Given the description of an element on the screen output the (x, y) to click on. 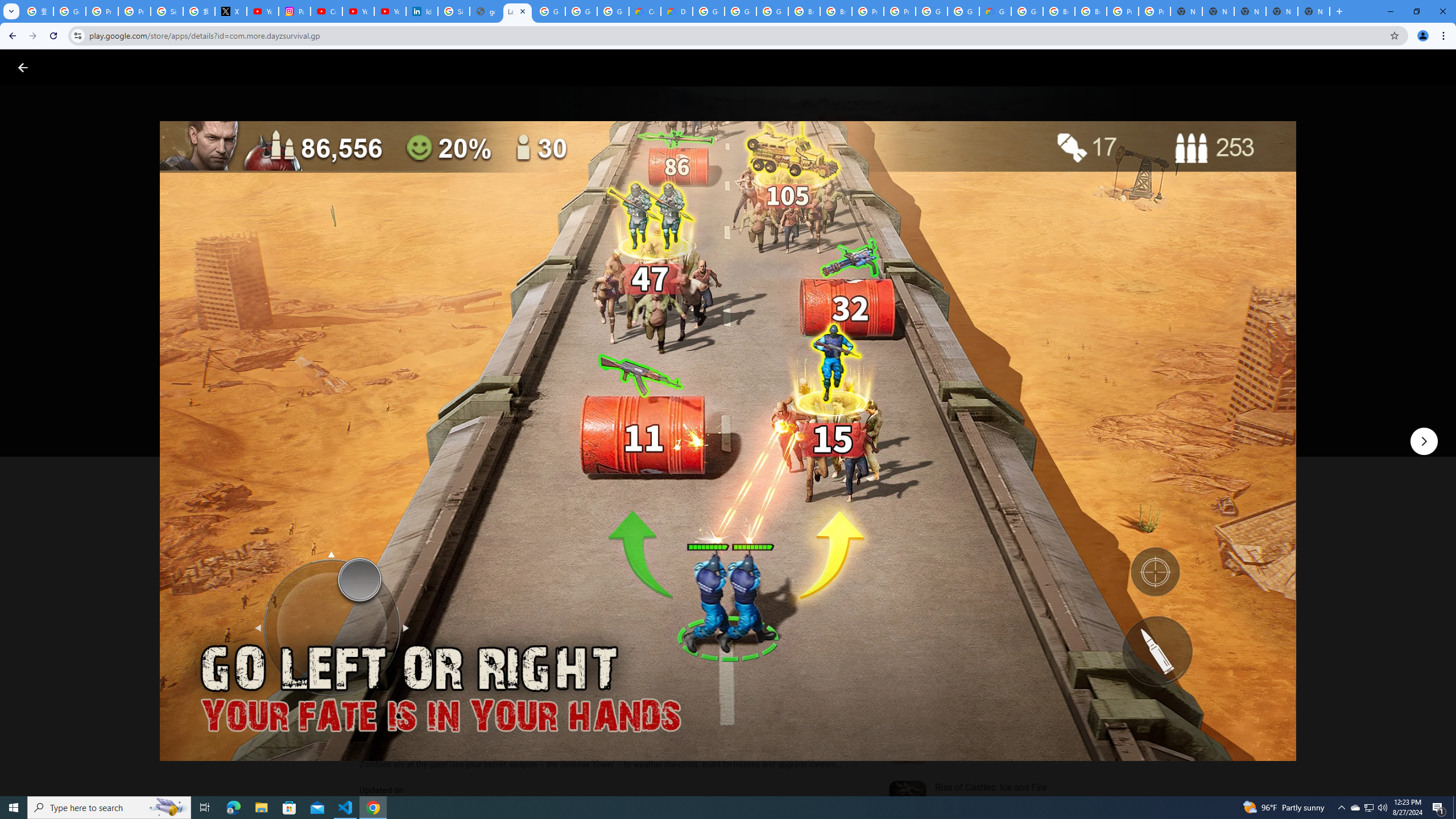
Close screenshot viewer (22, 67)
Browse Chrome as a guest - Computer - Google Chrome Help (1091, 11)
New Tab (1313, 11)
Google Cloud Estimate Summary (995, 11)
YouTube Culture & Trends - YouTube Top 10, 2021 (389, 11)
Privacy Help Center - Policies Help (101, 11)
Share (506, 422)
